Given the description of an element on the screen output the (x, y) to click on. 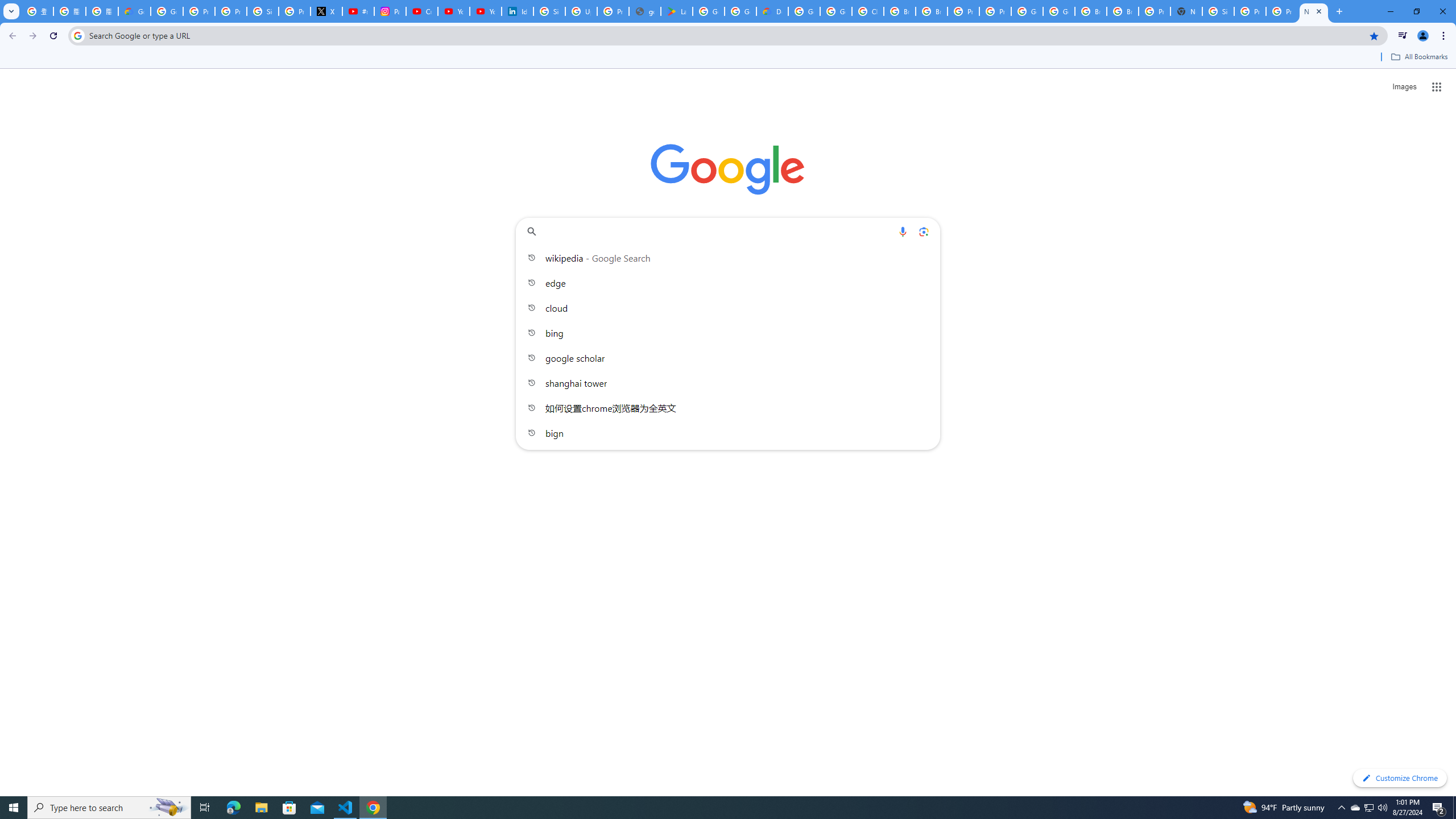
Sign in - Google Accounts (1217, 11)
Google Workspace - Specific Terms (740, 11)
Control your music, videos, and more (1402, 35)
Google apps (1436, 86)
Browse Chrome as a guest - Computer - Google Chrome Help (931, 11)
Search by voice (902, 230)
google_privacy_policy_en.pdf (644, 11)
